Given the description of an element on the screen output the (x, y) to click on. 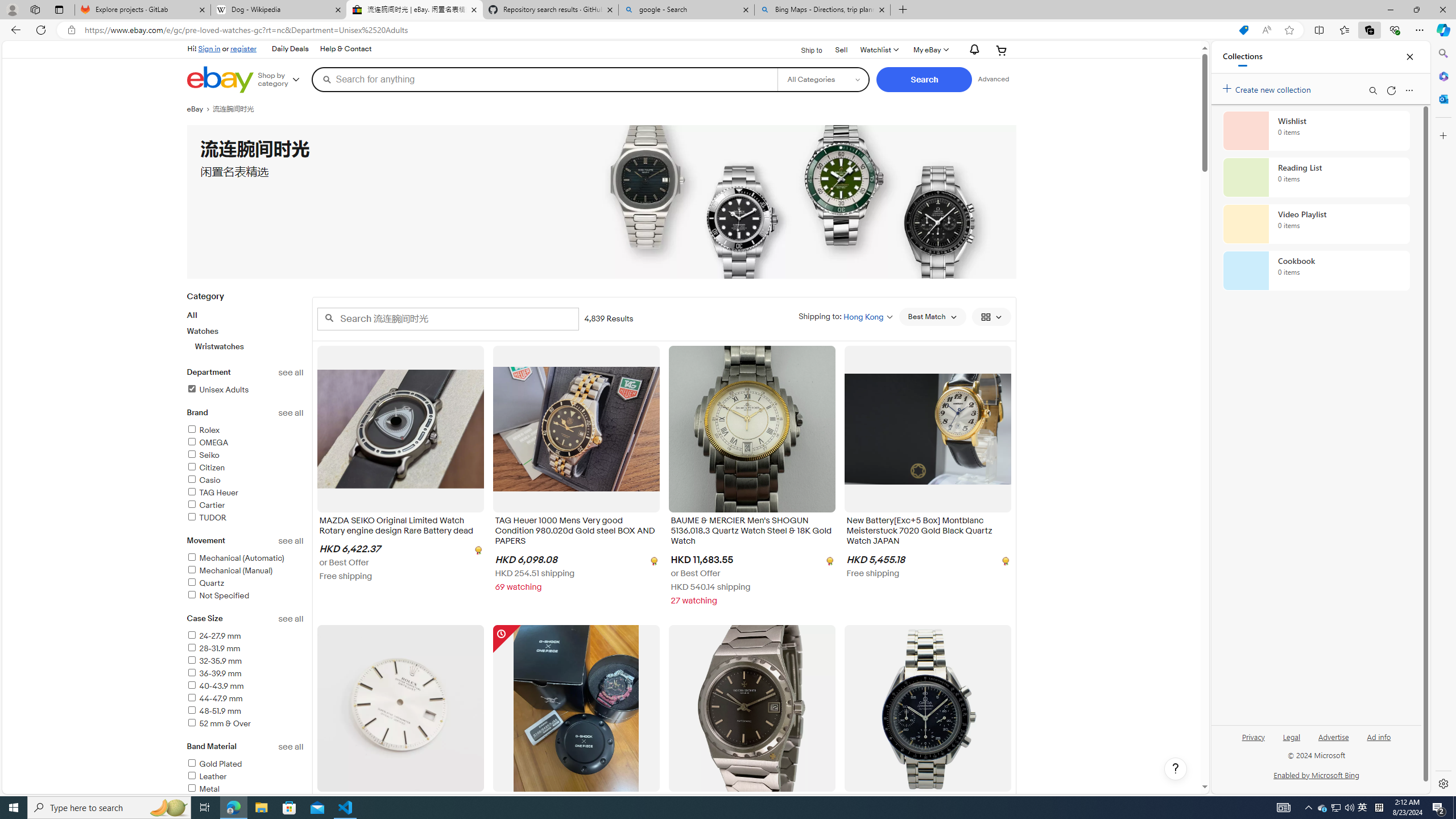
See all case size refinements (291, 618)
Seiko (245, 455)
eBay (199, 108)
Wishlist collection, 0 items (1316, 130)
28-31.9 mm (213, 648)
Quartz (205, 583)
This site has coupons! Shopping in Microsoft Edge, 20 (1243, 29)
Daily Deals (289, 49)
Unisex AdultsFilter Applied (245, 389)
Not Specified (217, 595)
Search for anything (544, 78)
